Given the description of an element on the screen output the (x, y) to click on. 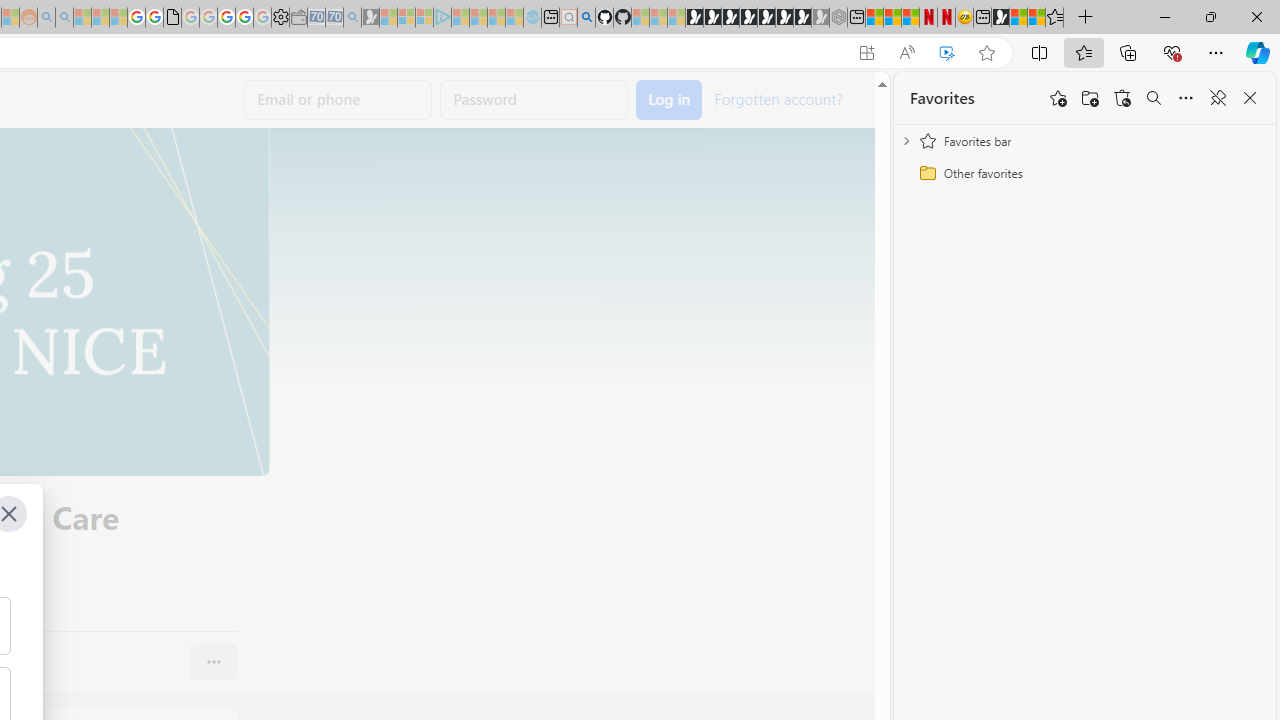
Close favorites (1250, 98)
Email or phone (338, 99)
Add this page to favorites (1058, 98)
